Given the description of an element on the screen output the (x, y) to click on. 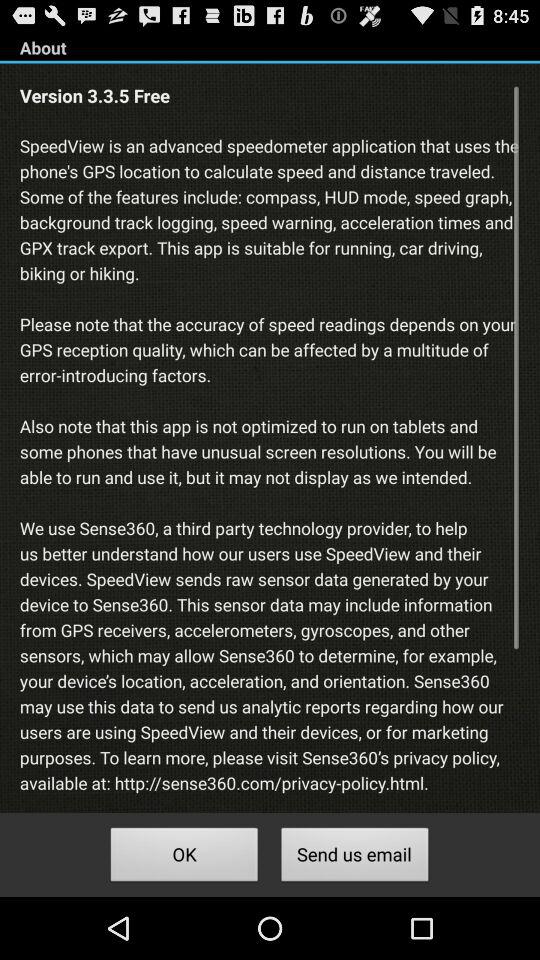
turn on button next to the ok icon (354, 857)
